Given the description of an element on the screen output the (x, y) to click on. 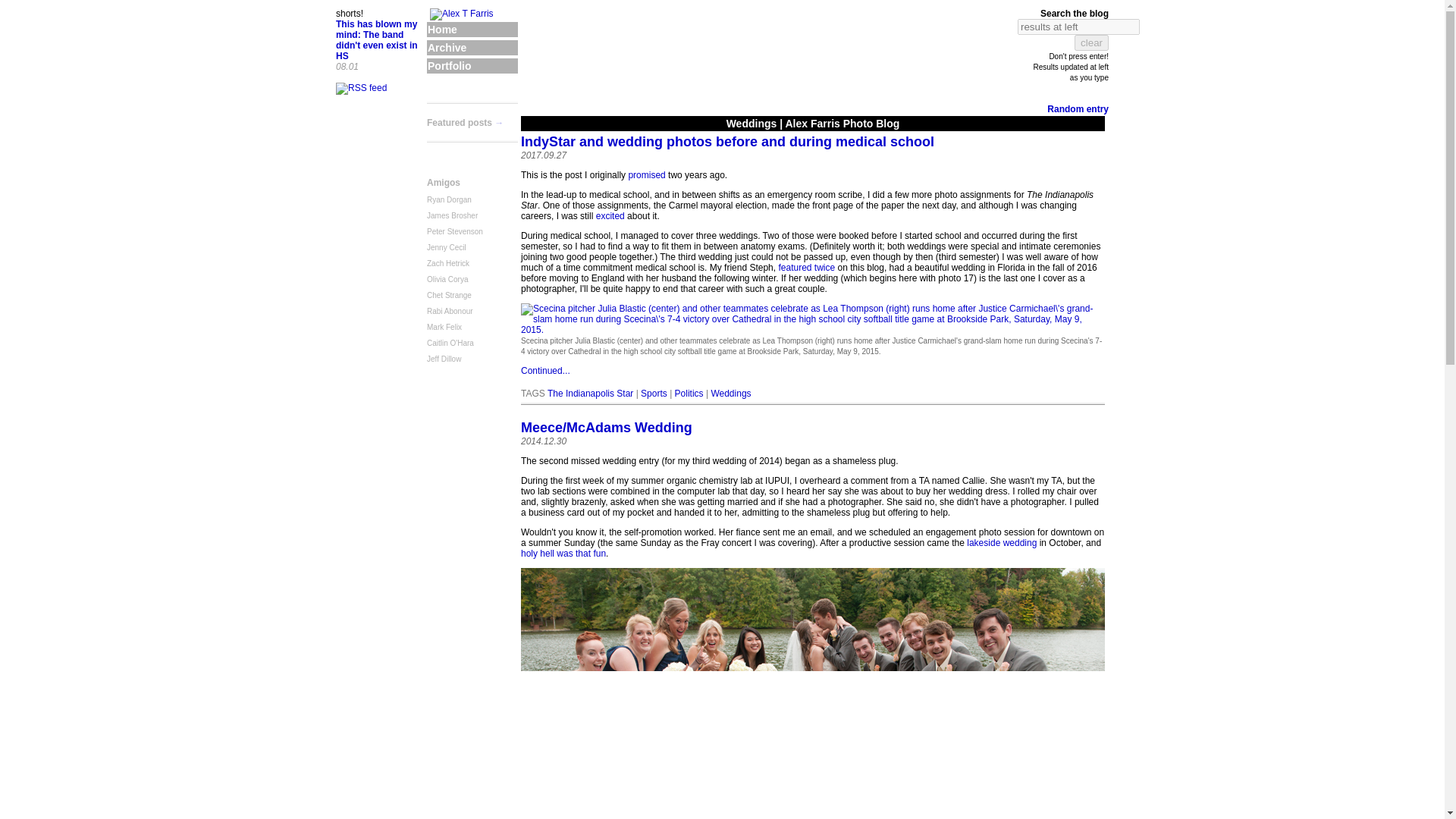
Featured posts (459, 122)
clear (1091, 42)
Home (472, 29)
This has blown my mind: The band didn't even exist in HS (376, 39)
Archive (472, 47)
You were a good person, Aaron Swartz. (361, 88)
Portfolio (472, 65)
Random entry (1077, 109)
